Given the description of an element on the screen output the (x, y) to click on. 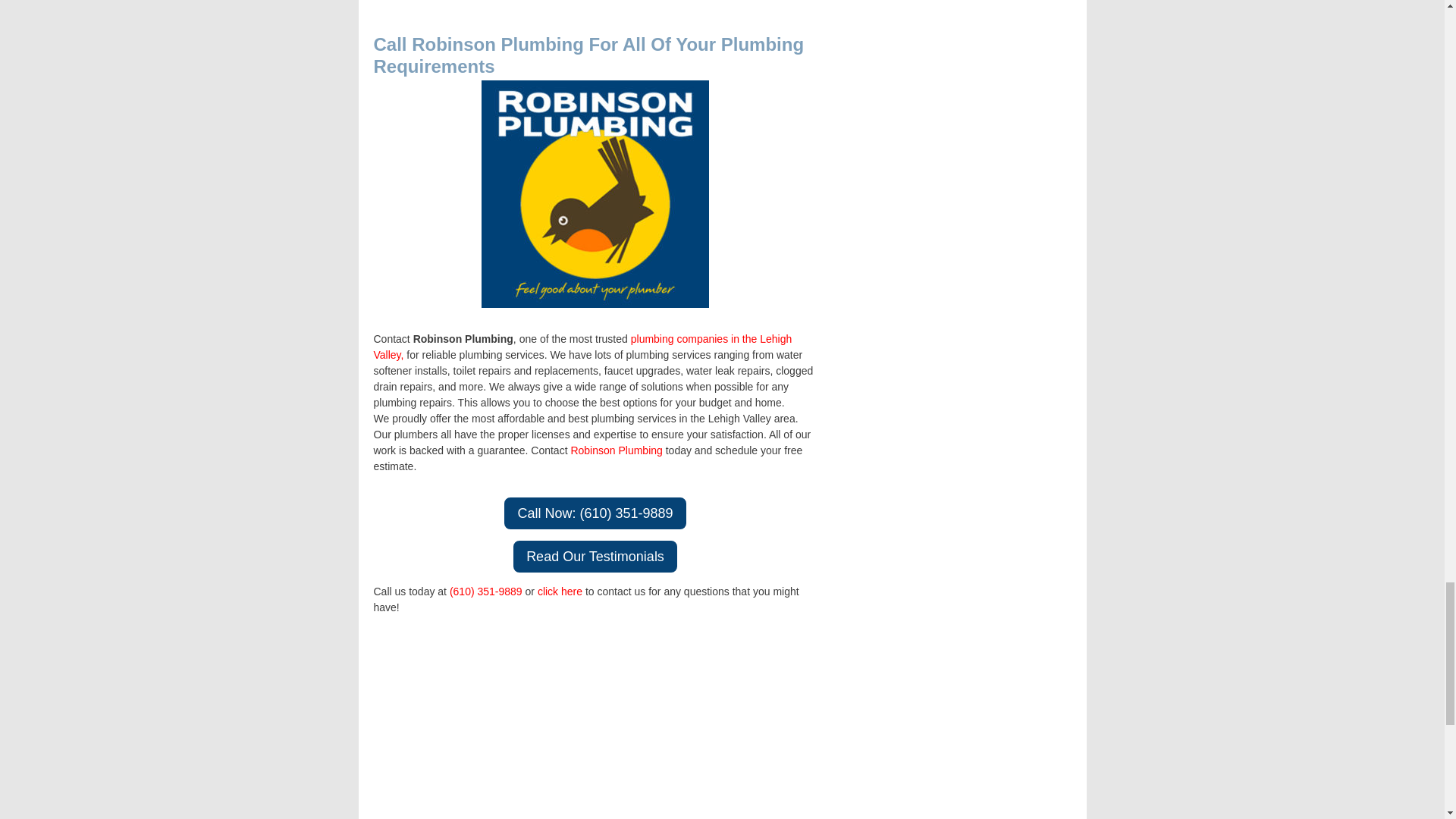
click here (559, 591)
Read Our Testimonials (595, 556)
Robinson Plumbing (616, 450)
plumbing companies in the Lehigh Valley, (582, 346)
